Given the description of an element on the screen output the (x, y) to click on. 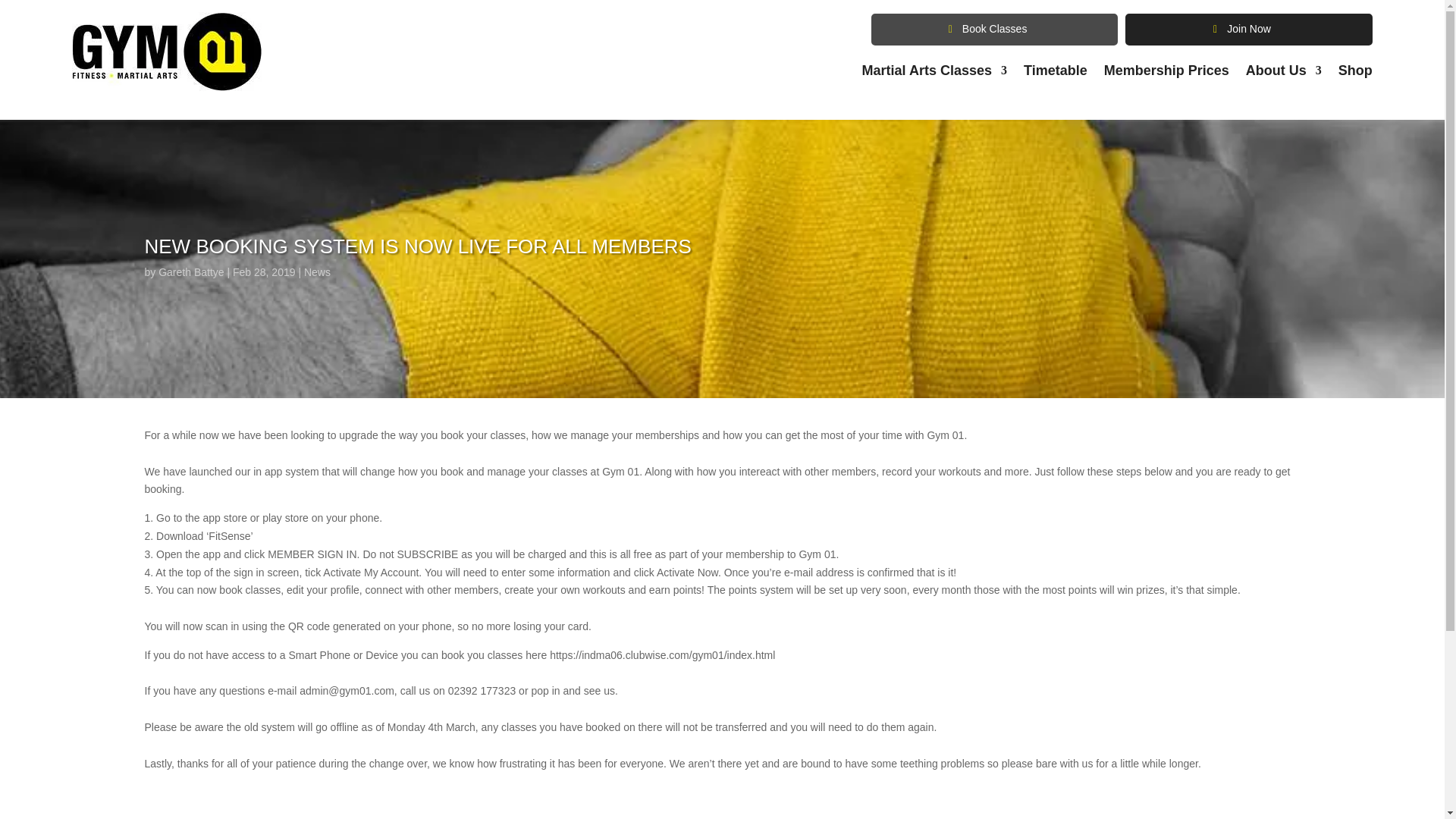
Martial Arts Classes (934, 73)
Membership Prices (1165, 73)
About Us (1284, 73)
Timetable (1055, 73)
Gareth Battye (191, 272)
Book Classes (994, 29)
GYM01 logo home (166, 51)
Posts by Gareth Battye (191, 272)
Join Now (1248, 29)
News (317, 272)
Shop (1355, 73)
